Given the description of an element on the screen output the (x, y) to click on. 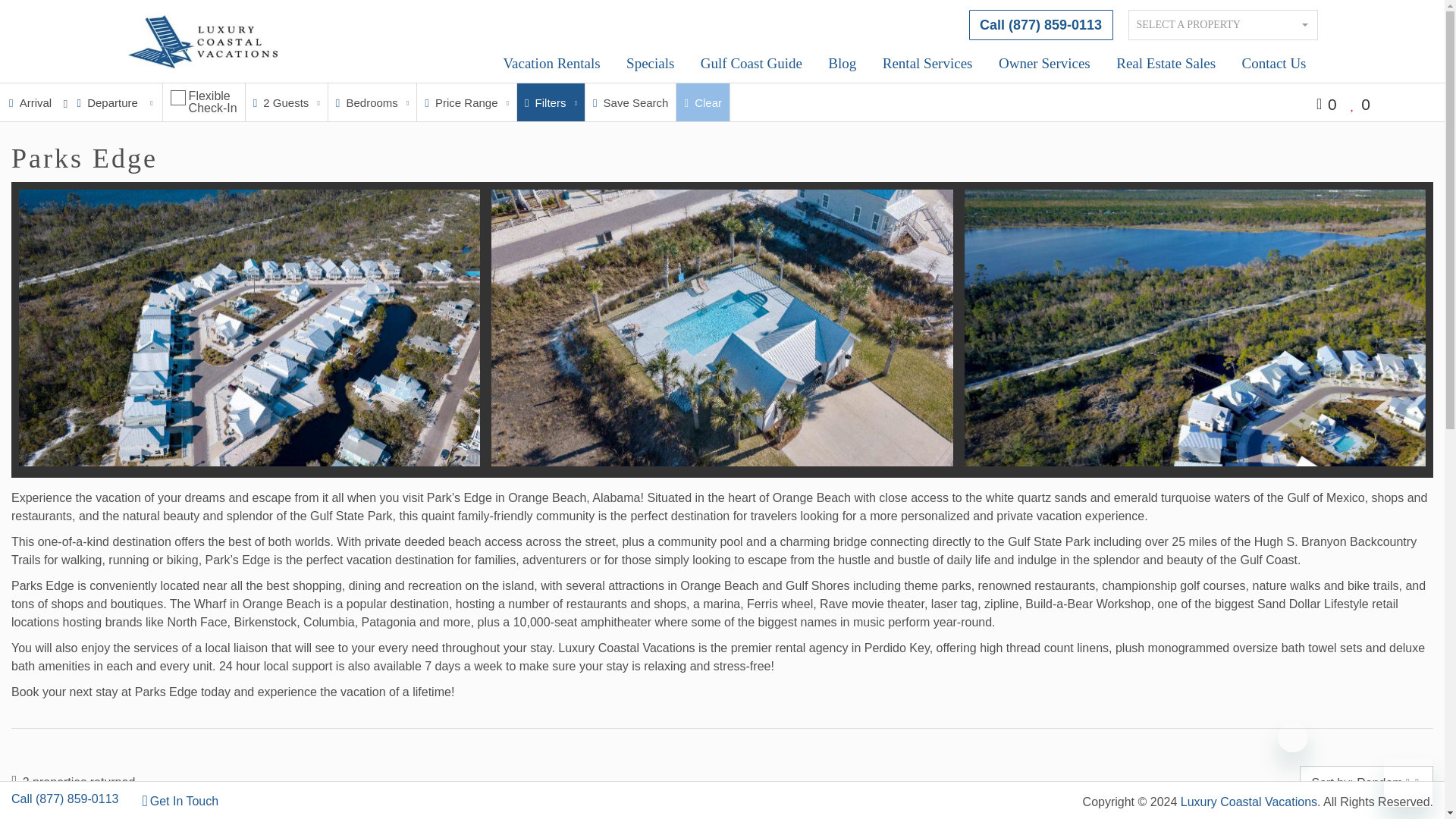
Specials (649, 63)
Contact Us (1273, 63)
Vacation Rentals (551, 63)
Rental Services (927, 63)
Select A Property (1222, 24)
Gulf Coast Guide (750, 63)
Real Estate Sales (1166, 63)
Owner Services (1044, 63)
SELECT A PROPERTY (1222, 24)
Blog (841, 63)
